Given the description of an element on the screen output the (x, y) to click on. 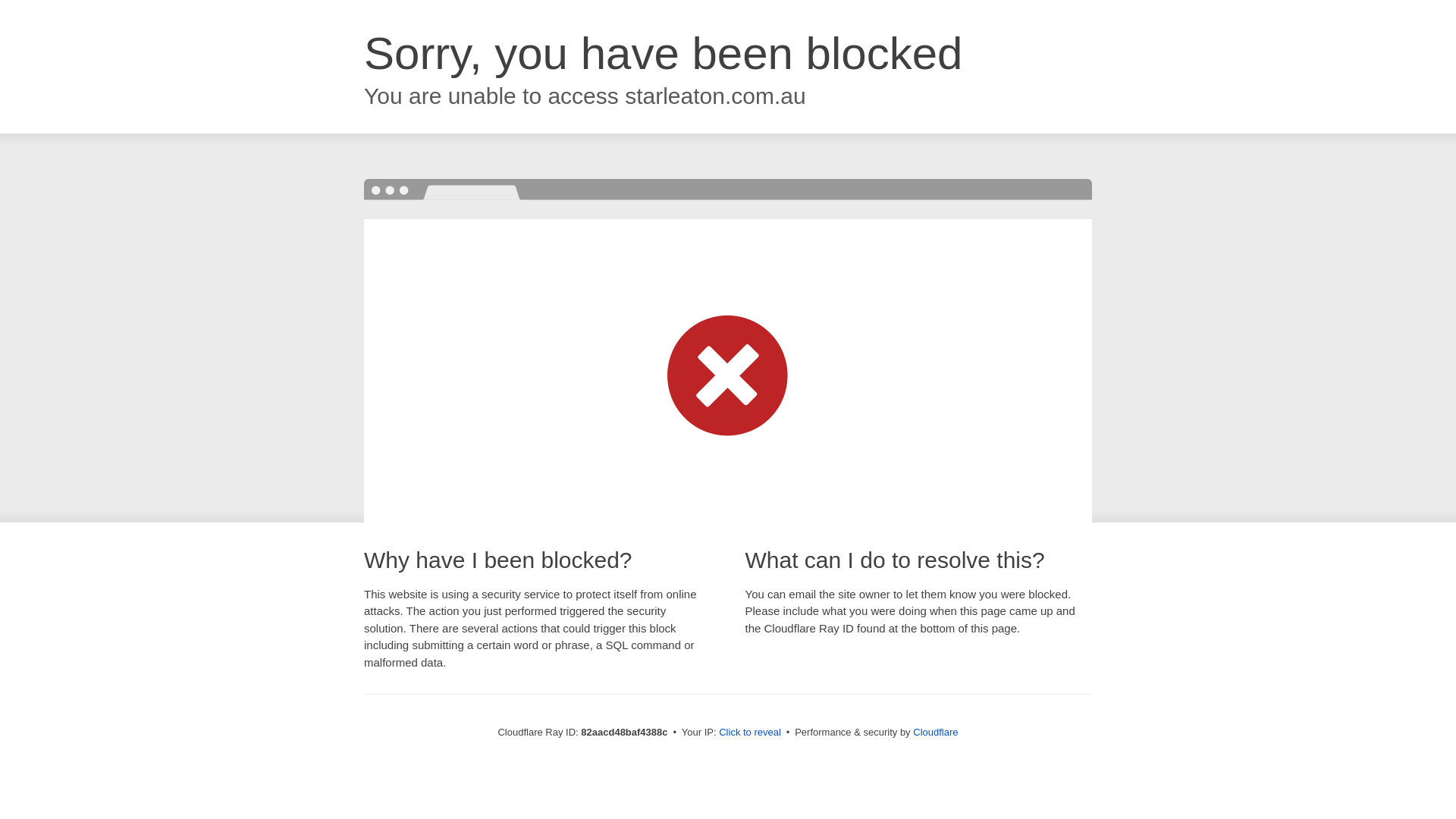
Cloudflare Element type: text (935, 731)
Click to reveal Element type: text (749, 732)
